Given the description of an element on the screen output the (x, y) to click on. 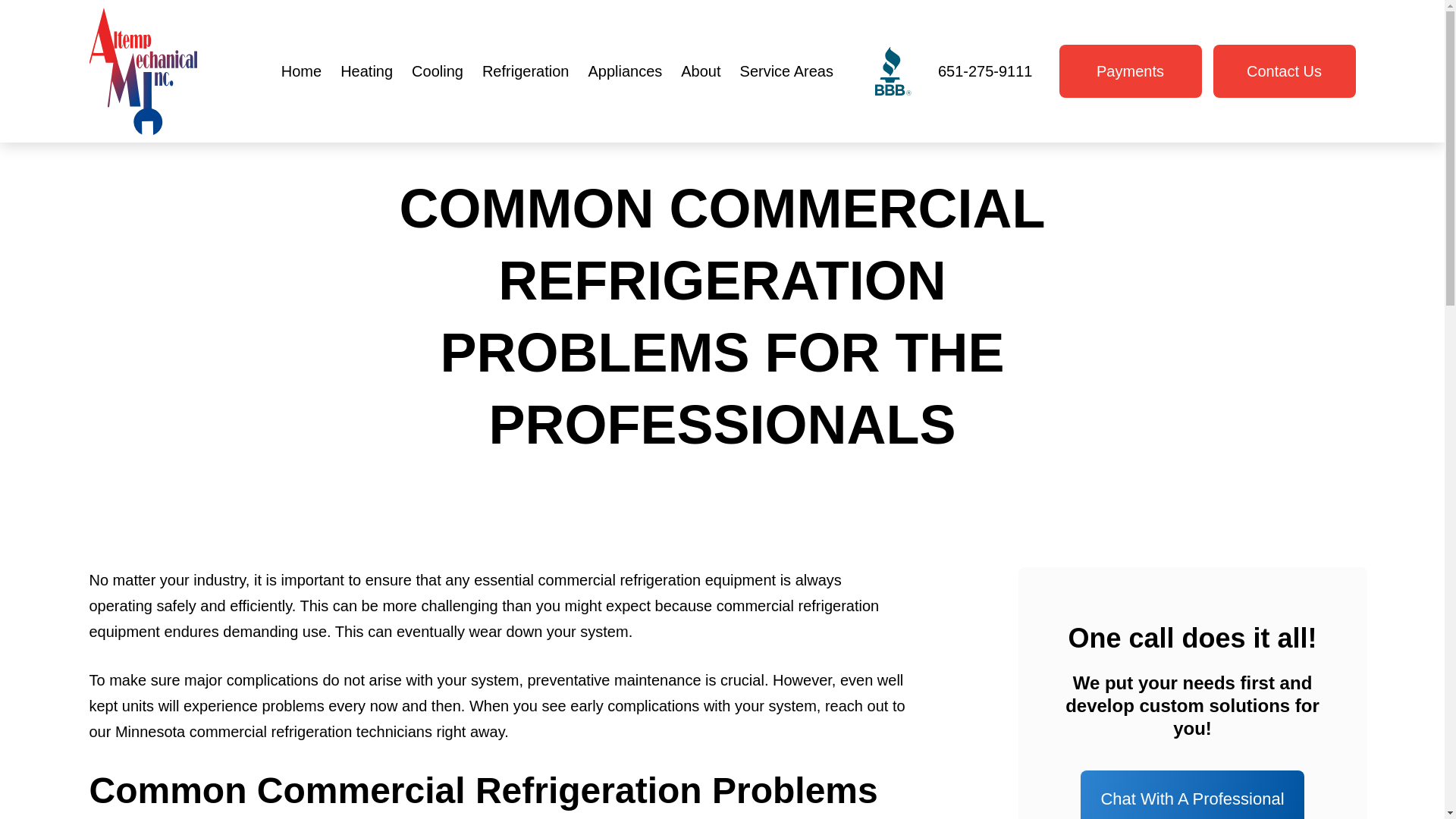
Cooling (437, 70)
Payments (1129, 71)
About (700, 70)
Appliances (624, 70)
Chat With A Professional (1192, 794)
Contact Us (1283, 71)
Service Areas (786, 70)
Refrigeration (526, 70)
Home (301, 70)
651-275-9111 (984, 71)
